Given the description of an element on the screen output the (x, y) to click on. 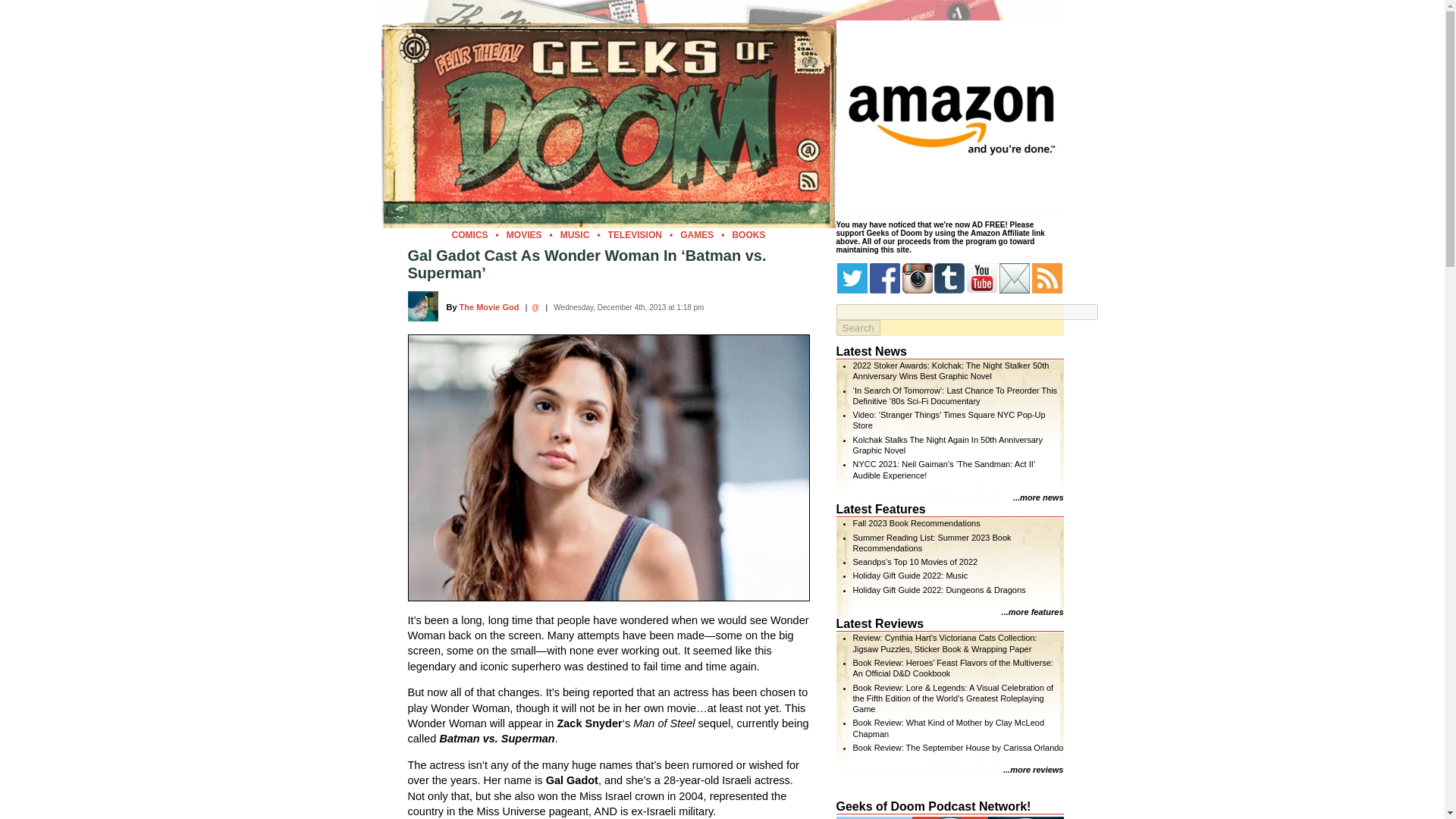
Follow Geeks of Doom on Instagram (917, 277)
Follow Geeks of Doom on Facebook (884, 277)
TELEVISION (635, 235)
Follow Geeks of Doom on Twitter (852, 277)
BOOKS (748, 235)
New Wonder Woman Gal Gadot Image (608, 467)
The Movie God (489, 307)
New Wonder Woman Gal Gadot Image (607, 467)
Follow The Movie God on Twitter (534, 307)
View The Movie God's profile (489, 307)
